Given the description of an element on the screen output the (x, y) to click on. 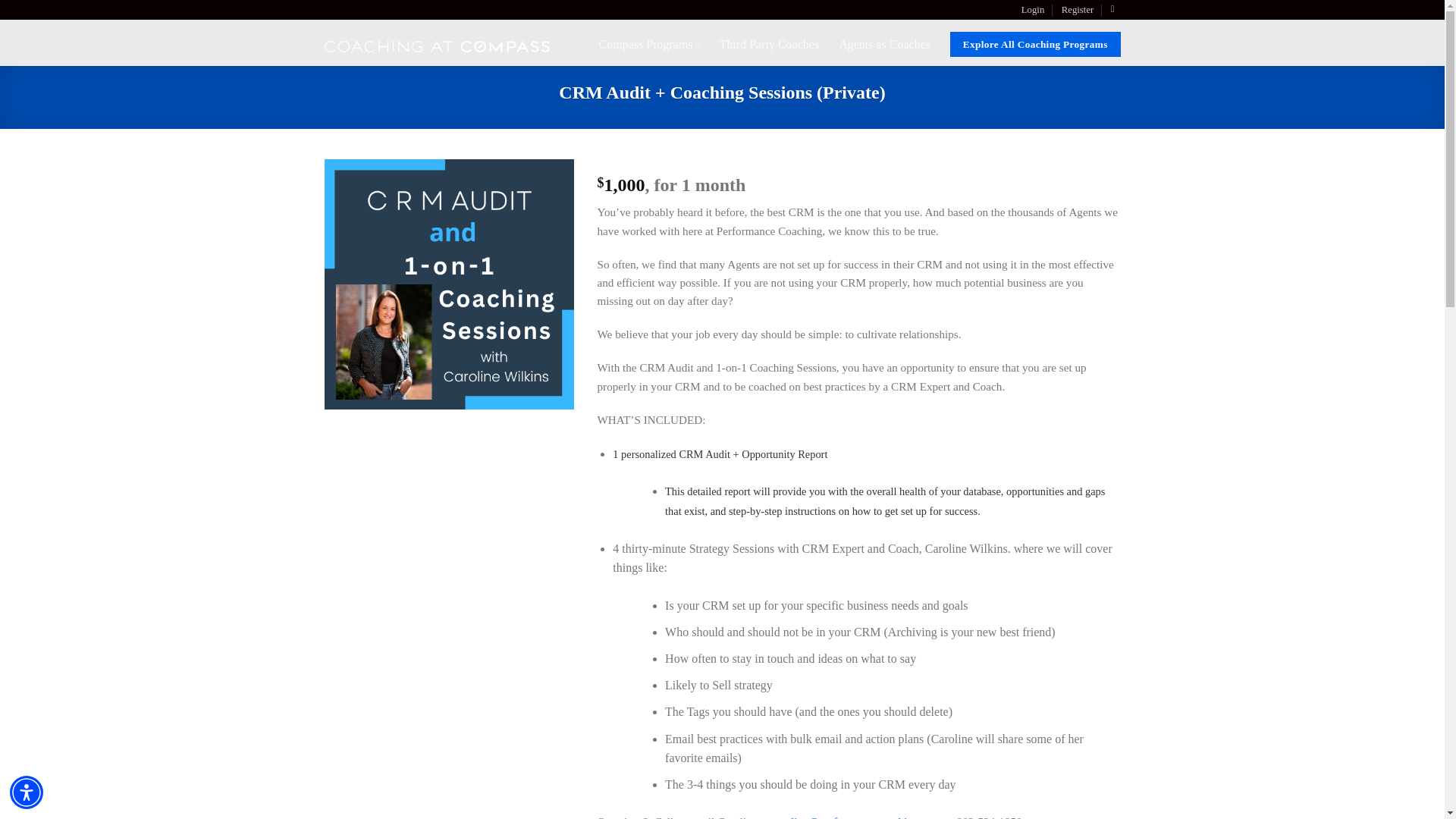
Third Party Coaches (769, 43)
Register (1077, 9)
Compass Programs (649, 43)
Agents as Coaches (884, 43)
Login (1033, 9)
Accessibility Menu (26, 792)
Explore All Coaching Programs (1035, 44)
